Given the description of an element on the screen output the (x, y) to click on. 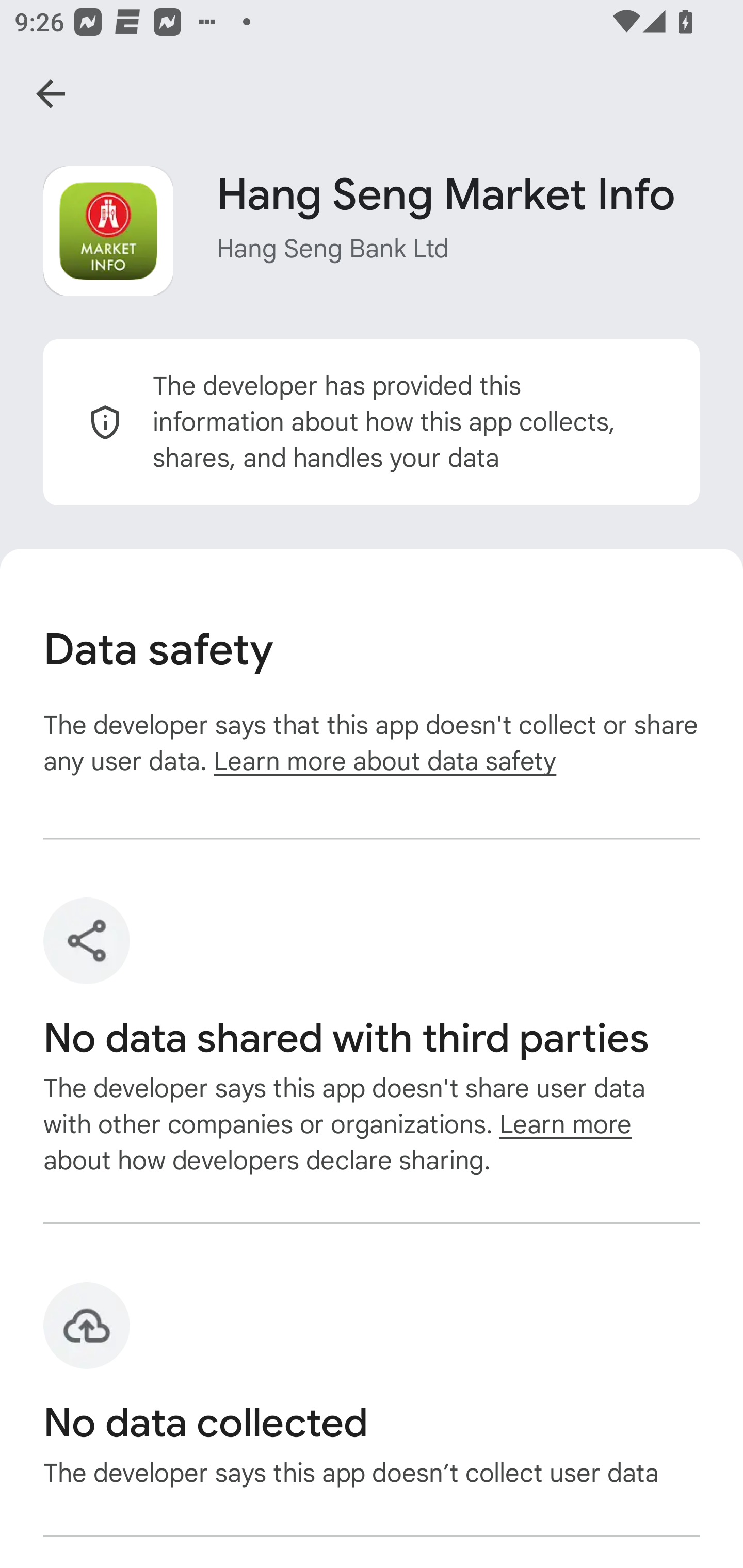
Navigate up (50, 93)
